Given the description of an element on the screen output the (x, y) to click on. 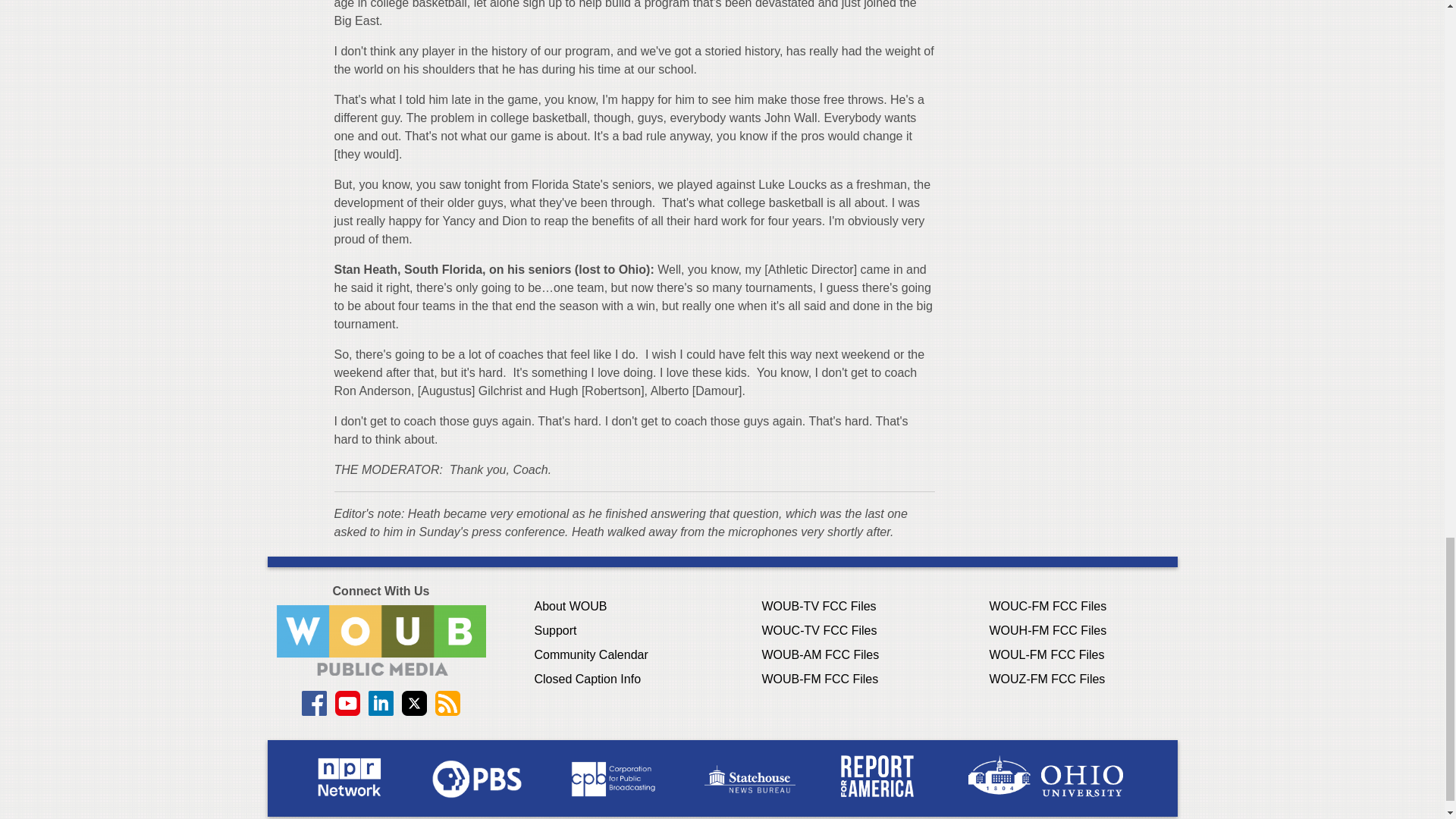
Contact WOUB (380, 640)
